Given the description of an element on the screen output the (x, y) to click on. 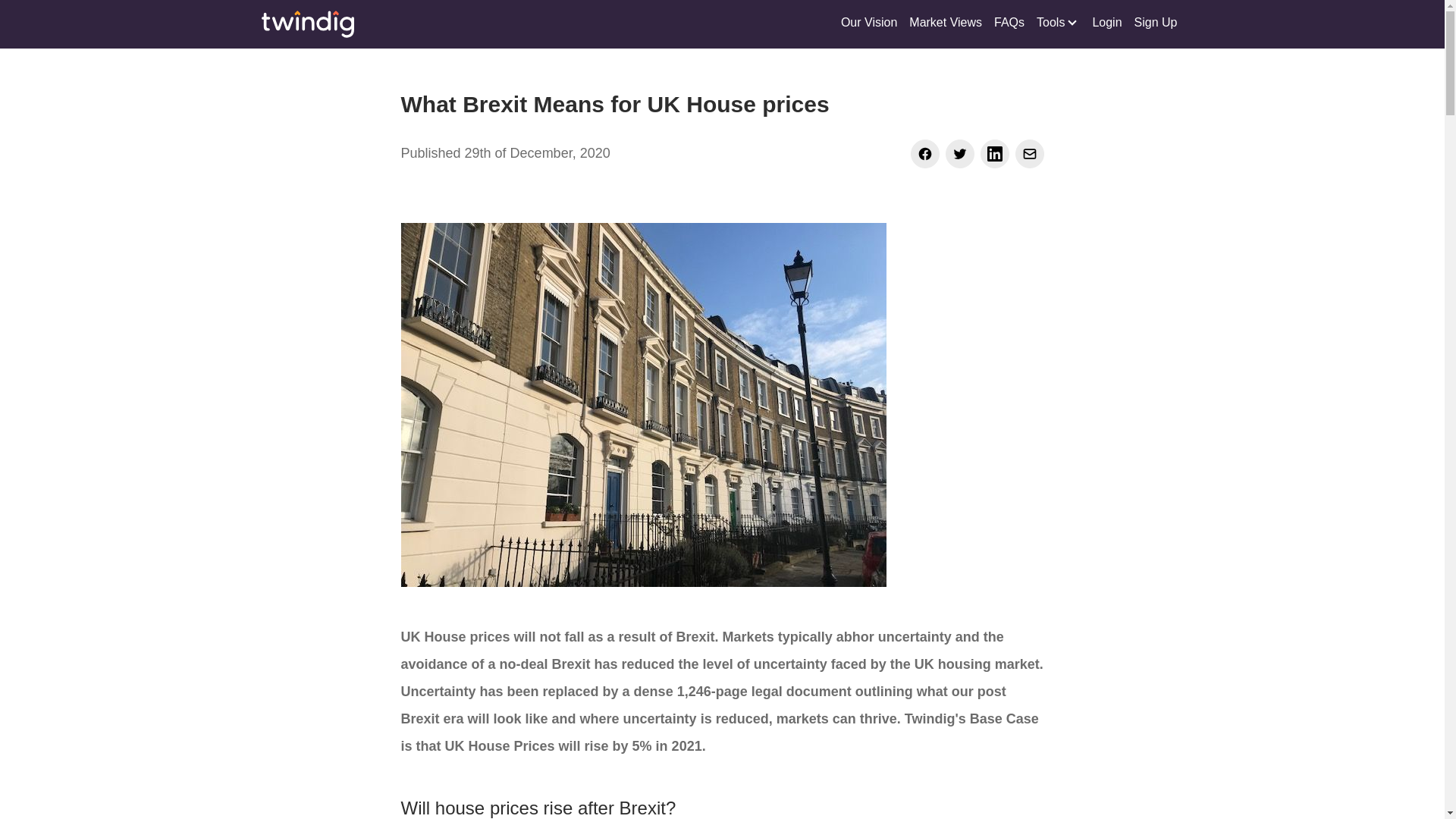
LinkedIn (994, 153)
Our Vision (868, 24)
mail (1028, 153)
Market Views (945, 24)
Sign Up (1155, 24)
Facebook (924, 153)
Twitter (959, 153)
